Given the description of an element on the screen output the (x, y) to click on. 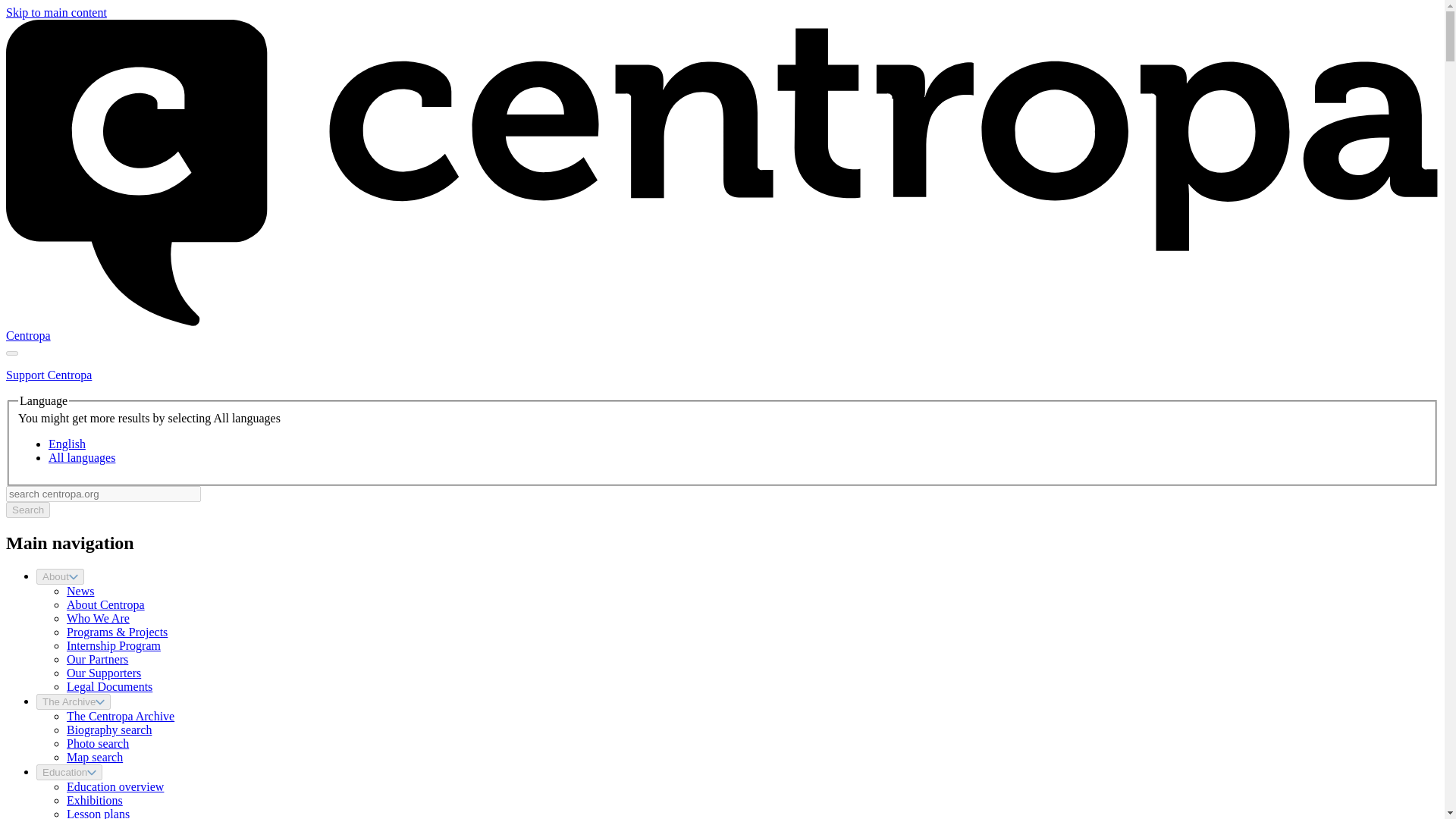
Search (27, 509)
Internship Program (113, 645)
The Centropa Archive (120, 716)
Education (68, 772)
The Archive (73, 701)
Support Centropa (48, 374)
Biography search (108, 729)
Education overview (114, 786)
Map search (94, 757)
Support Centropa (48, 374)
Skip to main content (55, 11)
About (60, 576)
Centropa (27, 335)
Exhibitions (94, 799)
All languages (81, 457)
